Given the description of an element on the screen output the (x, y) to click on. 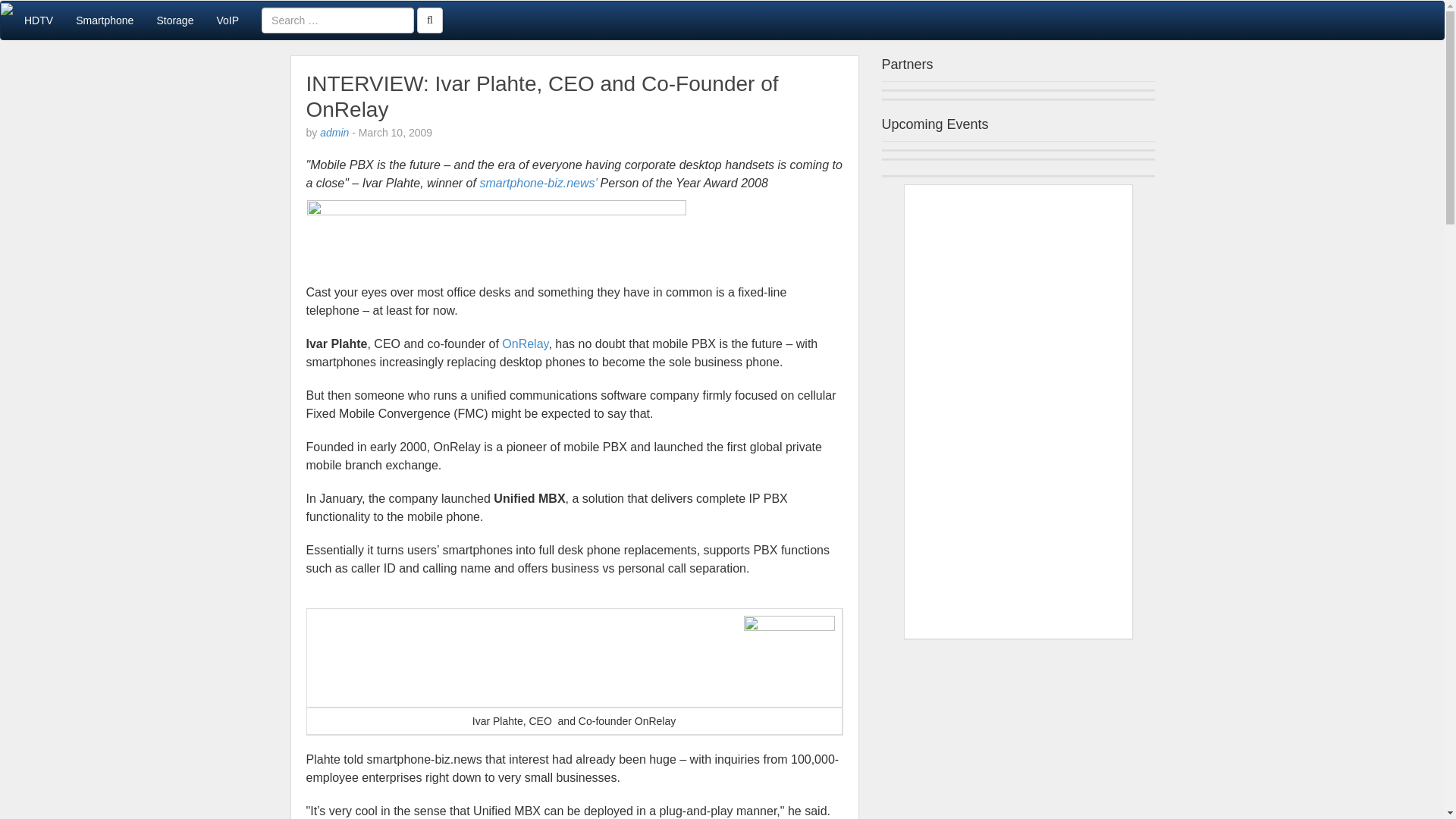
admin (334, 132)
HDTV (38, 20)
Smartphone (104, 20)
Posts by admin (334, 132)
INTERVIEW: Ivar Plahte, CEO and Co-Founder of OnRelay (541, 96)
Storage (174, 20)
VoIP (227, 20)
OnRelay (525, 343)
INTERVIEW: Ivar Plahte, CEO and Co-Founder of OnRelay (541, 96)
